Given the description of an element on the screen output the (x, y) to click on. 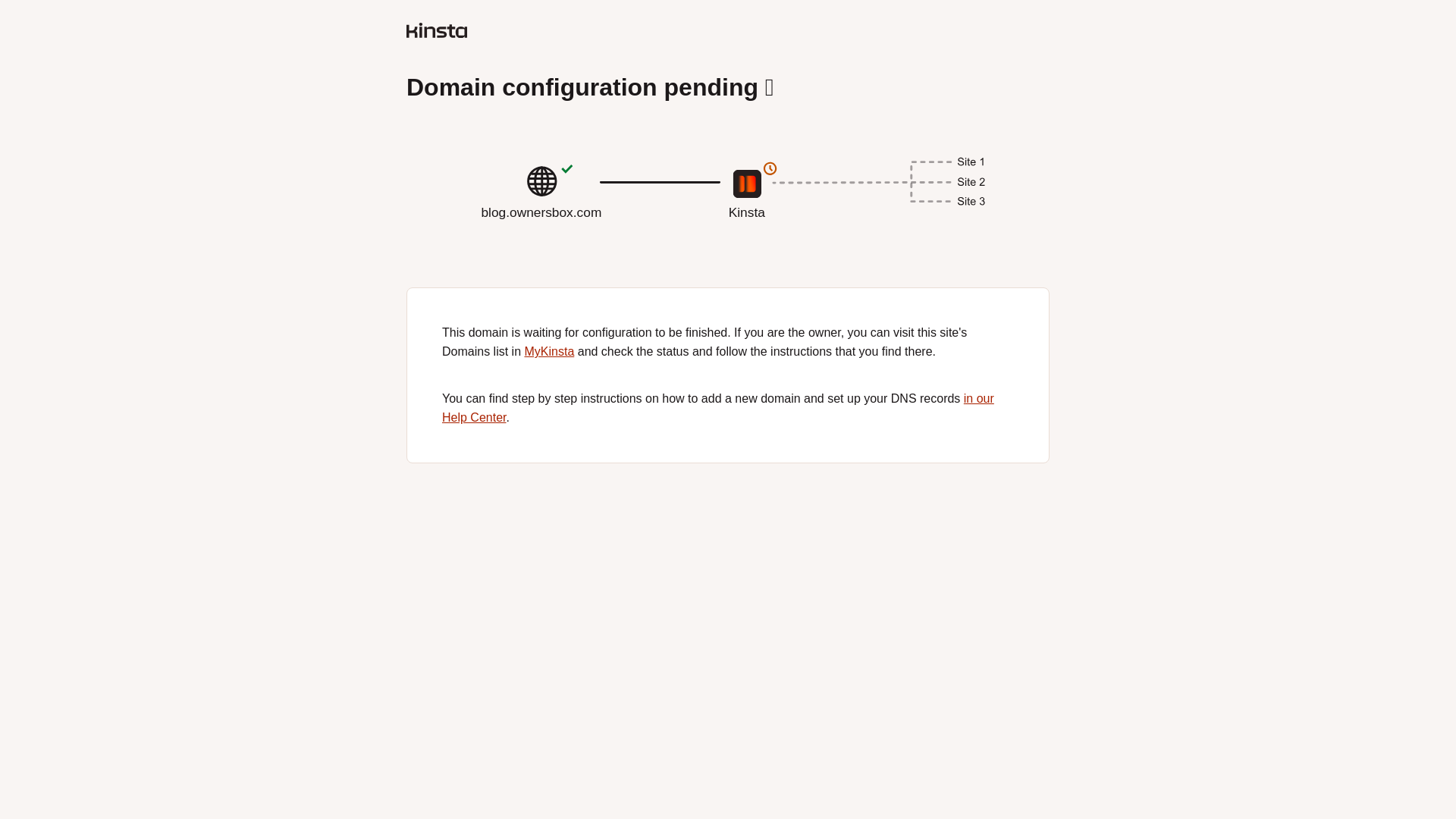
MyKinsta (548, 350)
in our Help Center (727, 218)
